Given the description of an element on the screen output the (x, y) to click on. 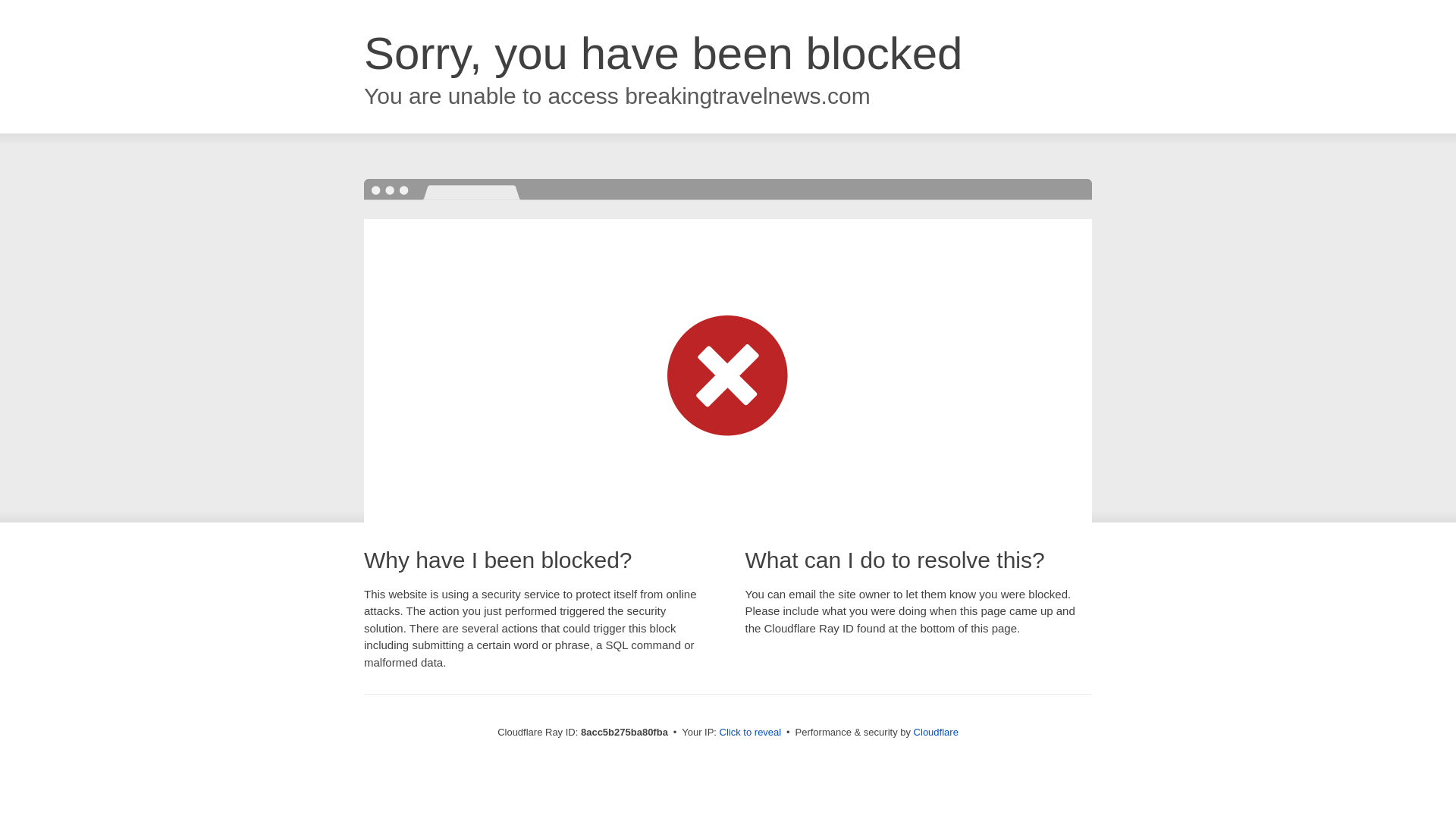
Cloudflare (936, 731)
Click to reveal (750, 732)
